Given the description of an element on the screen output the (x, y) to click on. 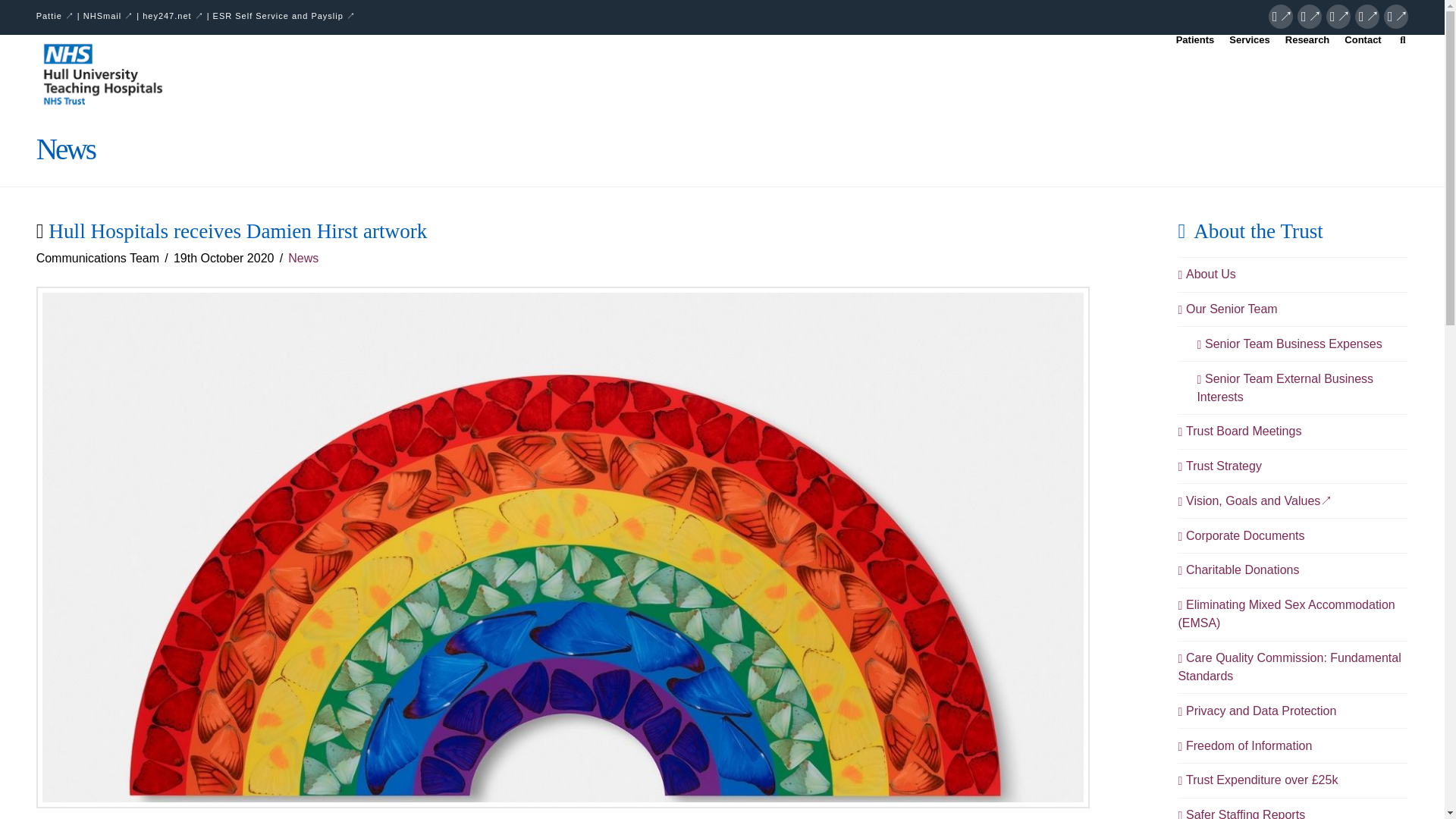
Our Senior Team (1226, 309)
Charitable Donations (1237, 570)
About Us (1205, 274)
Freedom of Information (1244, 746)
ESR Self Service and Payslip (283, 15)
NHSmail (107, 15)
Trust Board Meetings (1239, 431)
YouTube (1366, 16)
Trust Strategy (1219, 466)
Privacy and Data Protection (1256, 710)
